Given the description of an element on the screen output the (x, y) to click on. 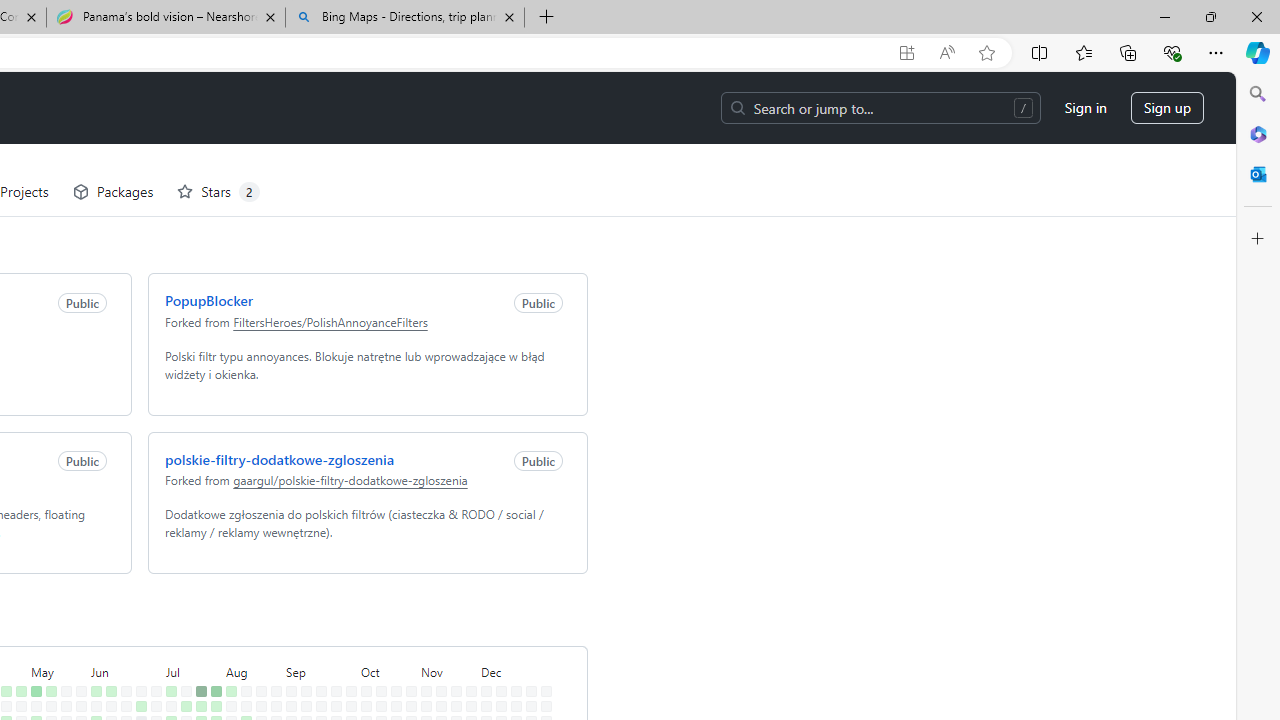
No contributions on May 17th. (47, 694)
No contributions on December 26th. (527, 678)
No contributions on September 20th. (317, 694)
No contributions on June 26th. (137, 664)
No contributions on September 3rd. (287, 649)
No contributions on December 18th. (512, 664)
No contributions on June 23rd. (137, 619)
No contributions on July 16th. (182, 649)
No contributions on October 3rd. (347, 678)
No contributions on July 19th. (182, 694)
No contributions on November 5th. (422, 649)
No contributions on June 16th. (122, 619)
